Given the description of an element on the screen output the (x, y) to click on. 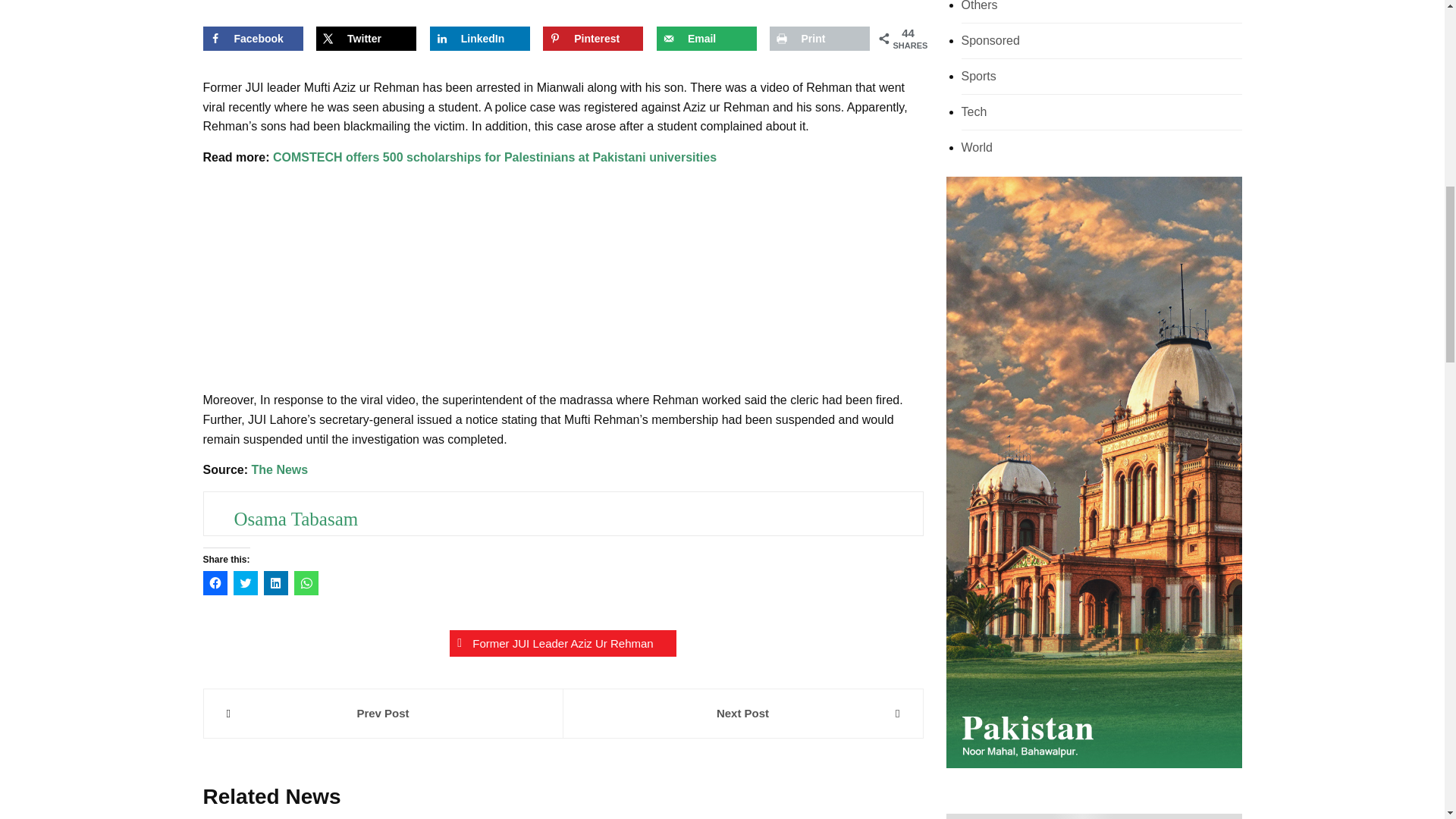
Facebook (252, 38)
Share on LinkedIn (479, 38)
Save to Pinterest (593, 38)
Share on X (365, 38)
Click to share on WhatsApp (306, 582)
Send over email (706, 38)
Print this webpage (819, 38)
Email (706, 38)
Share on Facebook (252, 38)
